Given the description of an element on the screen output the (x, y) to click on. 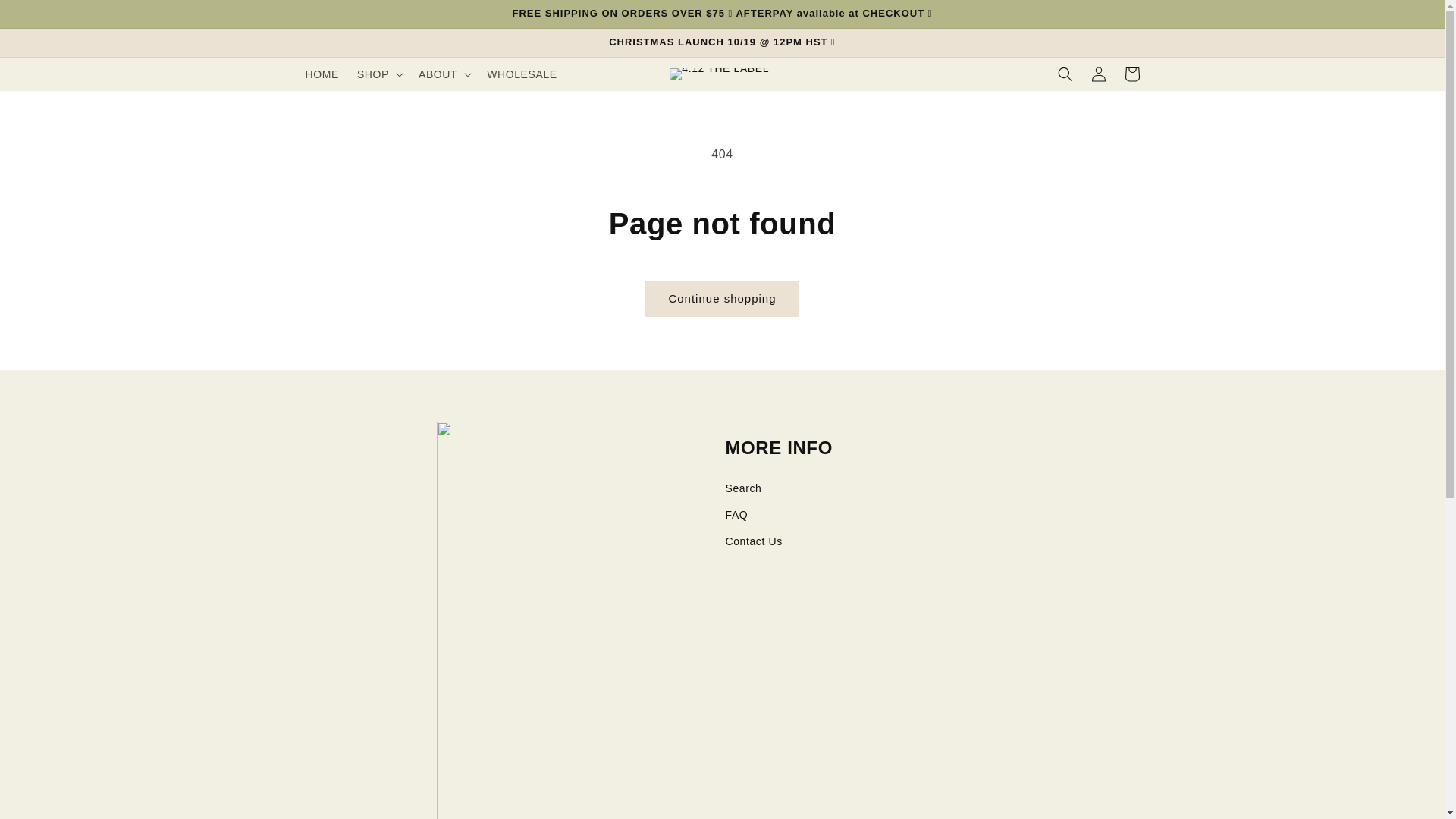
Contact Us Element type: text (931, 541)
Cart Element type: text (1131, 74)
Continue shopping Element type: text (721, 298)
Search Element type: text (931, 488)
WHOLESALE Element type: text (521, 74)
Log in Element type: text (1097, 74)
HOME Element type: text (321, 74)
FAQ Element type: text (931, 515)
